Given the description of an element on the screen output the (x, y) to click on. 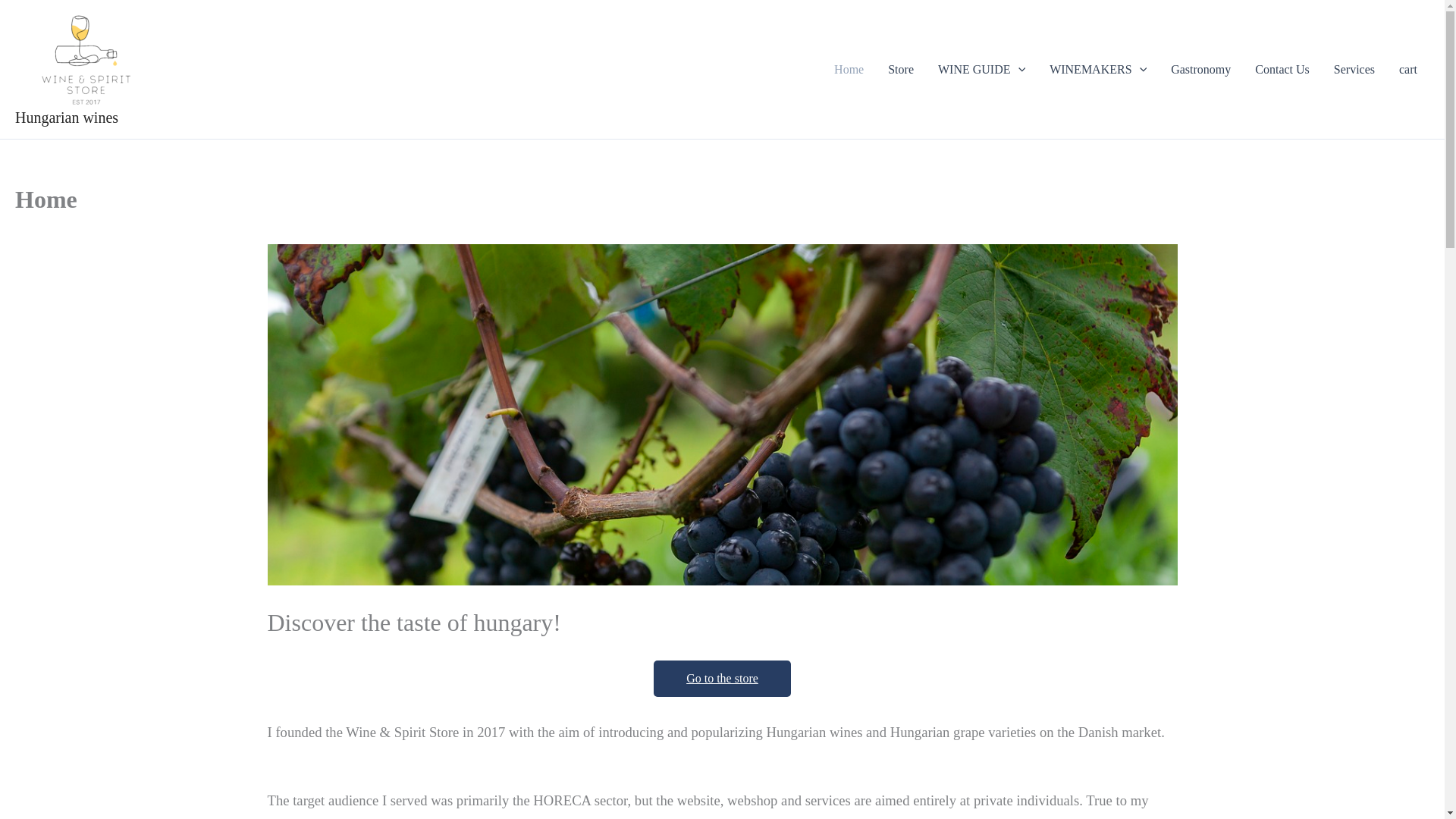
Gastronomy (1200, 69)
WINE GUIDE (981, 69)
Hungarian wines (65, 117)
Services (1354, 69)
Contact Us (1282, 69)
WINEMAKERS (1097, 69)
